Given the description of an element on the screen output the (x, y) to click on. 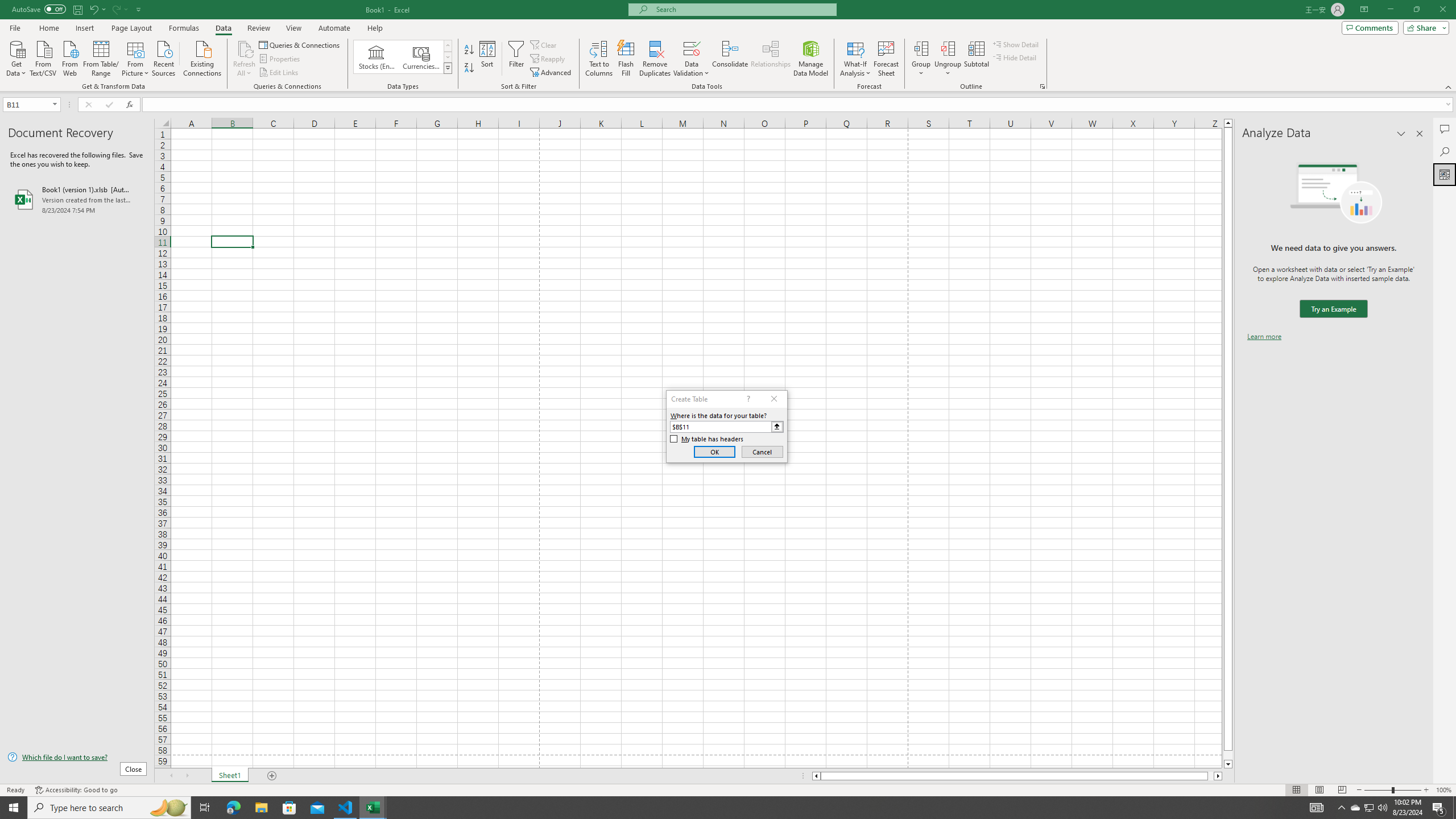
Hide Detail (1014, 56)
Forecast Sheet (885, 58)
From Table/Range (100, 57)
What-If Analysis (855, 58)
Reapply (548, 58)
